Given the description of an element on the screen output the (x, y) to click on. 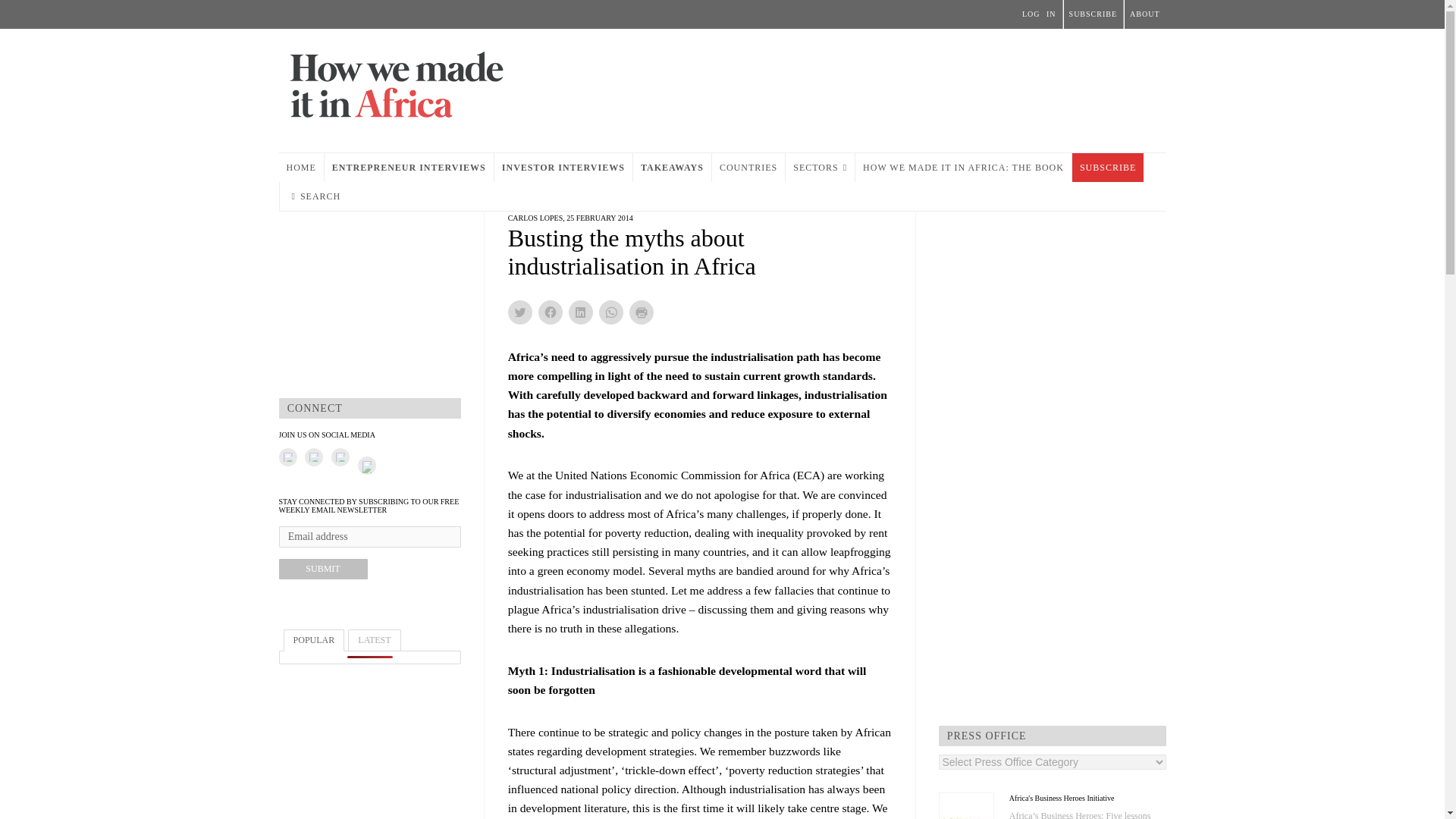
HOME (301, 167)
Click to share on Twitter (520, 312)
COUNTRIES (747, 167)
Click to share on LinkedIn (580, 312)
SEARCH (315, 195)
INVESTOR INTERVIEWS (563, 167)
ENTREPRENEUR INTERVIEWS (408, 167)
Posts by Carlos Lopes (535, 217)
Submit (323, 568)
HOW WE MADE IT IN AFRICA: THE BOOK (963, 167)
Click to print (640, 312)
SUBSCRIBE (1106, 167)
Click to share on Facebook (550, 312)
CARLOS LOPES (535, 217)
SECTORS (820, 167)
